Given the description of an element on the screen output the (x, y) to click on. 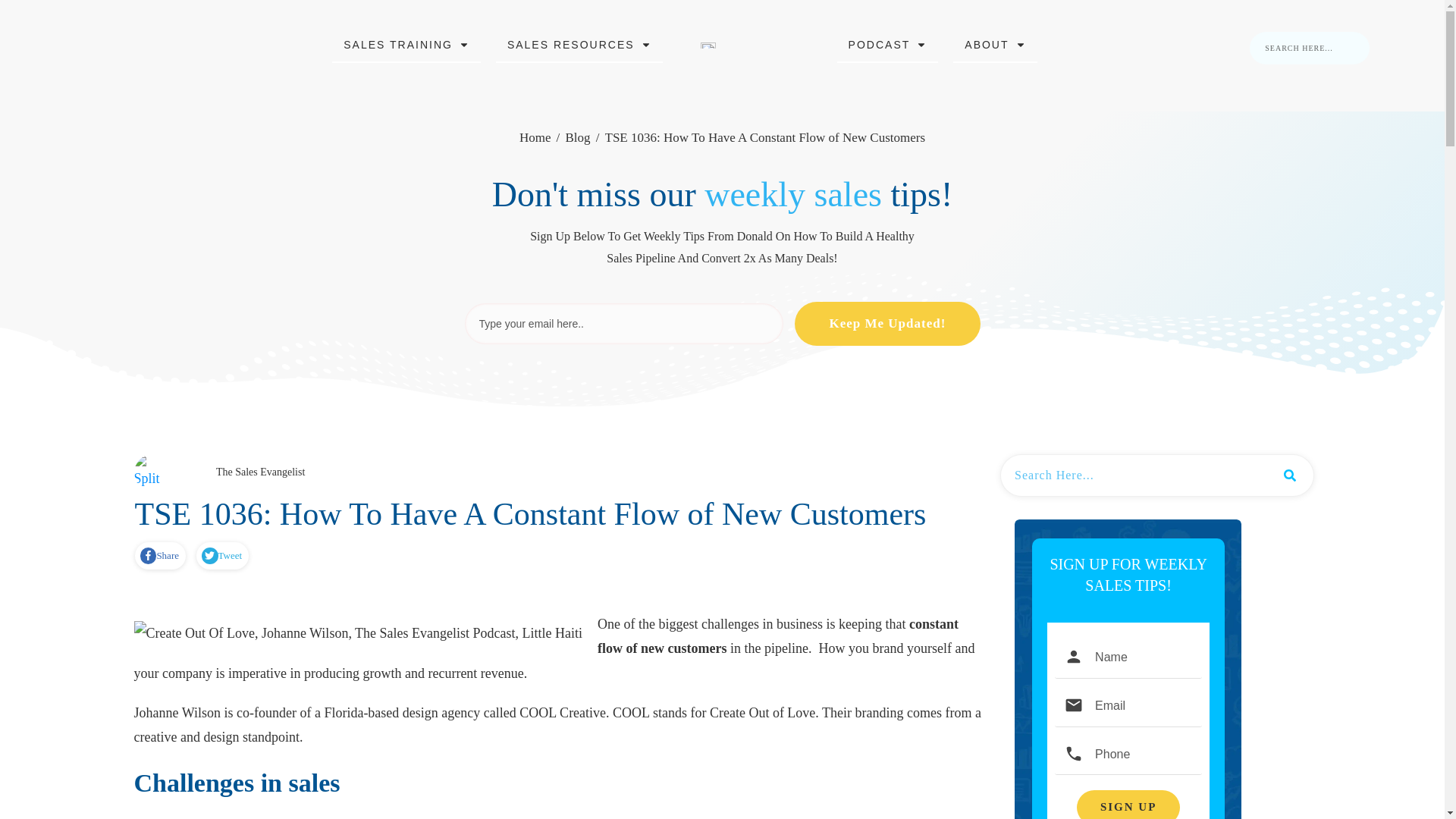
ABOUT (994, 44)
SALES TRAINING (405, 44)
TSE 1036: How To Have A Constant Flow of New Customers (530, 513)
Tweet (221, 555)
Blog (576, 137)
PODCAST (887, 44)
Keep Me Updated! (886, 323)
Split Top With Sidebar (151, 472)
Home (535, 137)
TSE 1036: How To Have A Constant Flow of New Customers (530, 513)
